Given the description of an element on the screen output the (x, y) to click on. 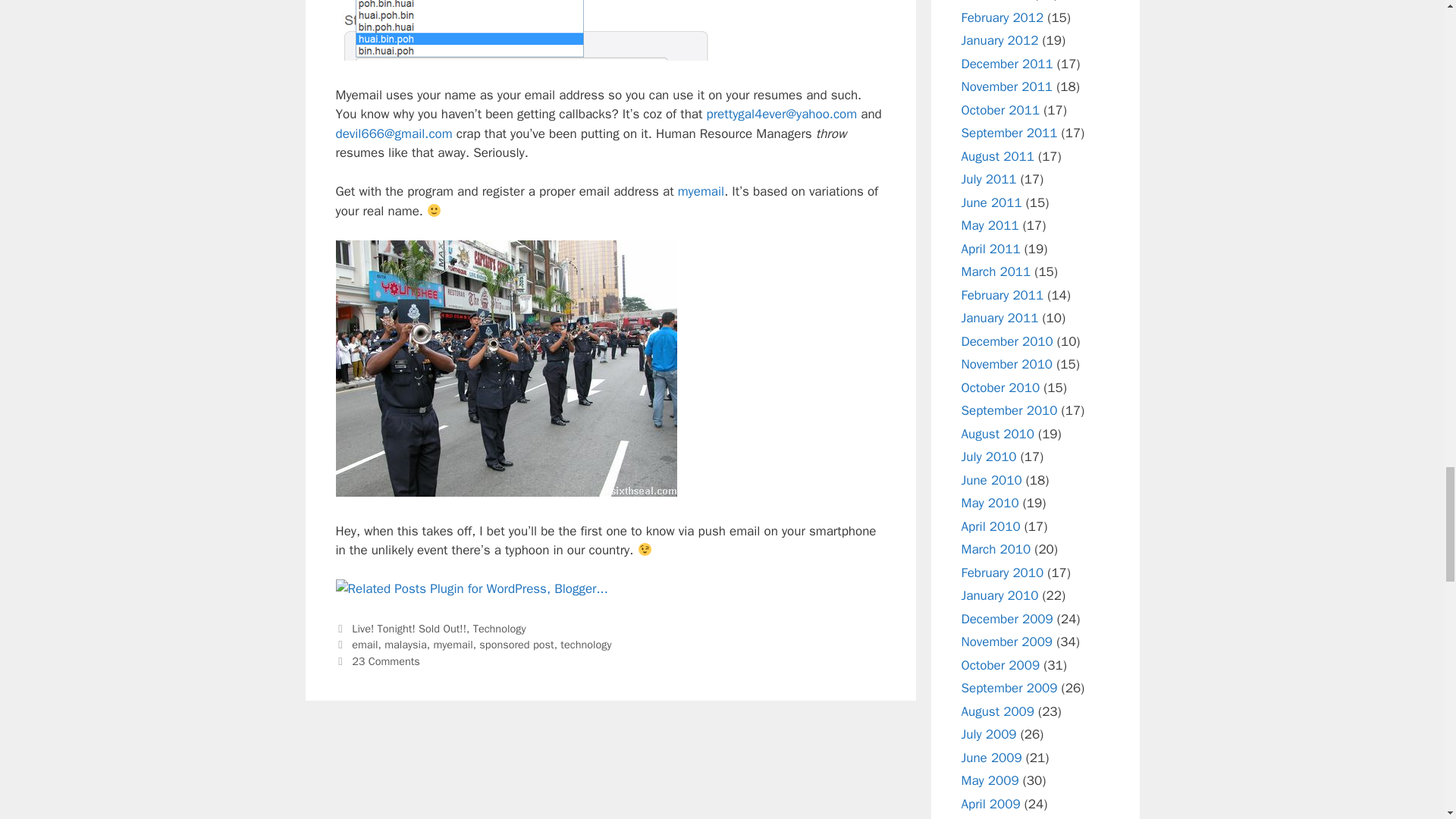
Technology (499, 628)
malaysia (405, 644)
myemail (451, 644)
sponsored post (516, 644)
23 Comments (386, 661)
email (364, 644)
myemail (700, 191)
Live! Tonight! Sold Out!! (408, 628)
technology (585, 644)
